Given the description of an element on the screen output the (x, y) to click on. 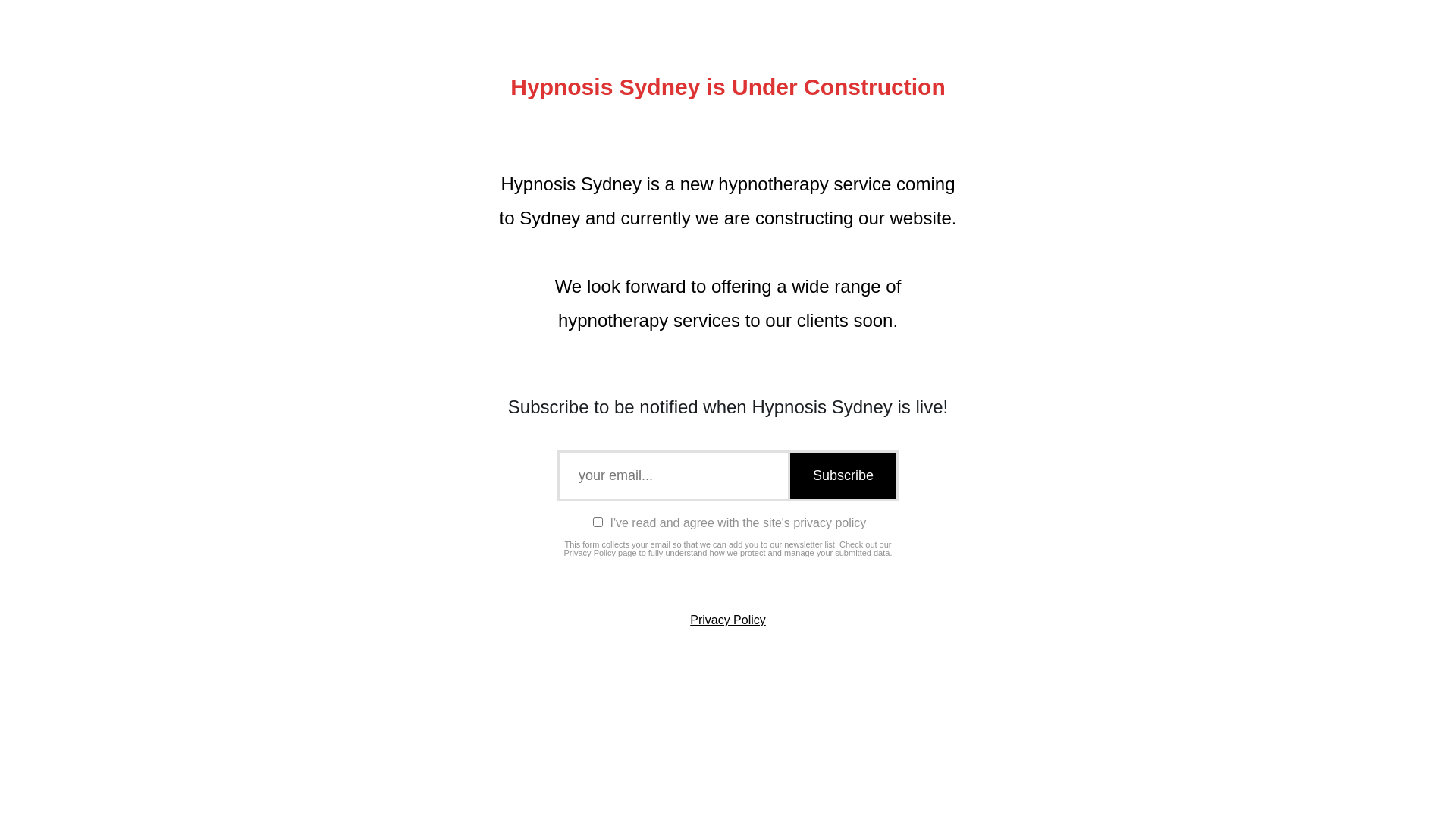
Subscribe Element type: text (841, 475)
Privacy Policy Element type: text (589, 552)
Privacy Policy Element type: text (727, 619)
